Given the description of an element on the screen output the (x, y) to click on. 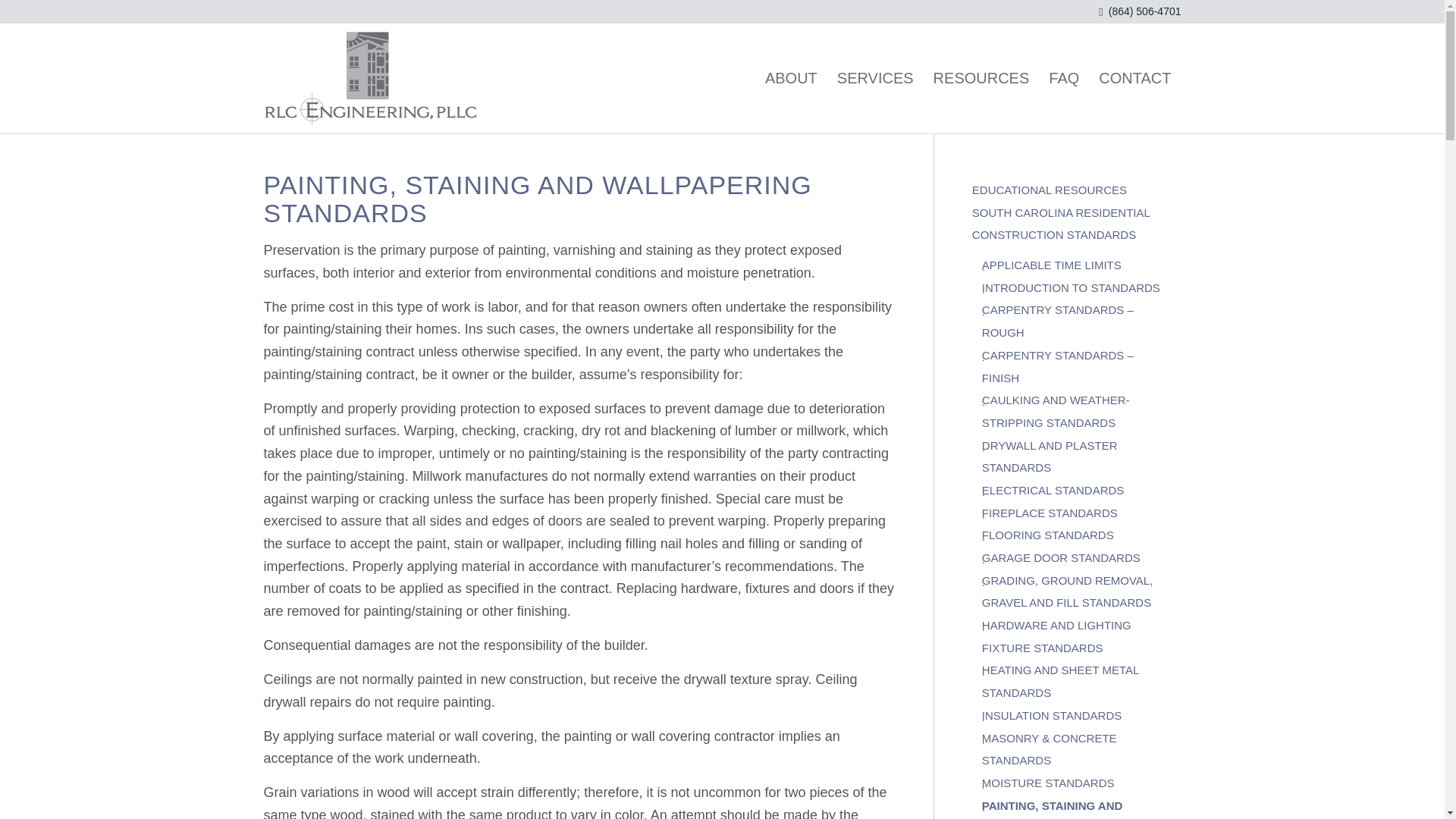
FAQ (1064, 78)
RESOURCES (981, 78)
SERVICES (875, 78)
CONTACT (1134, 78)
ABOUT (791, 78)
